Given the description of an element on the screen output the (x, y) to click on. 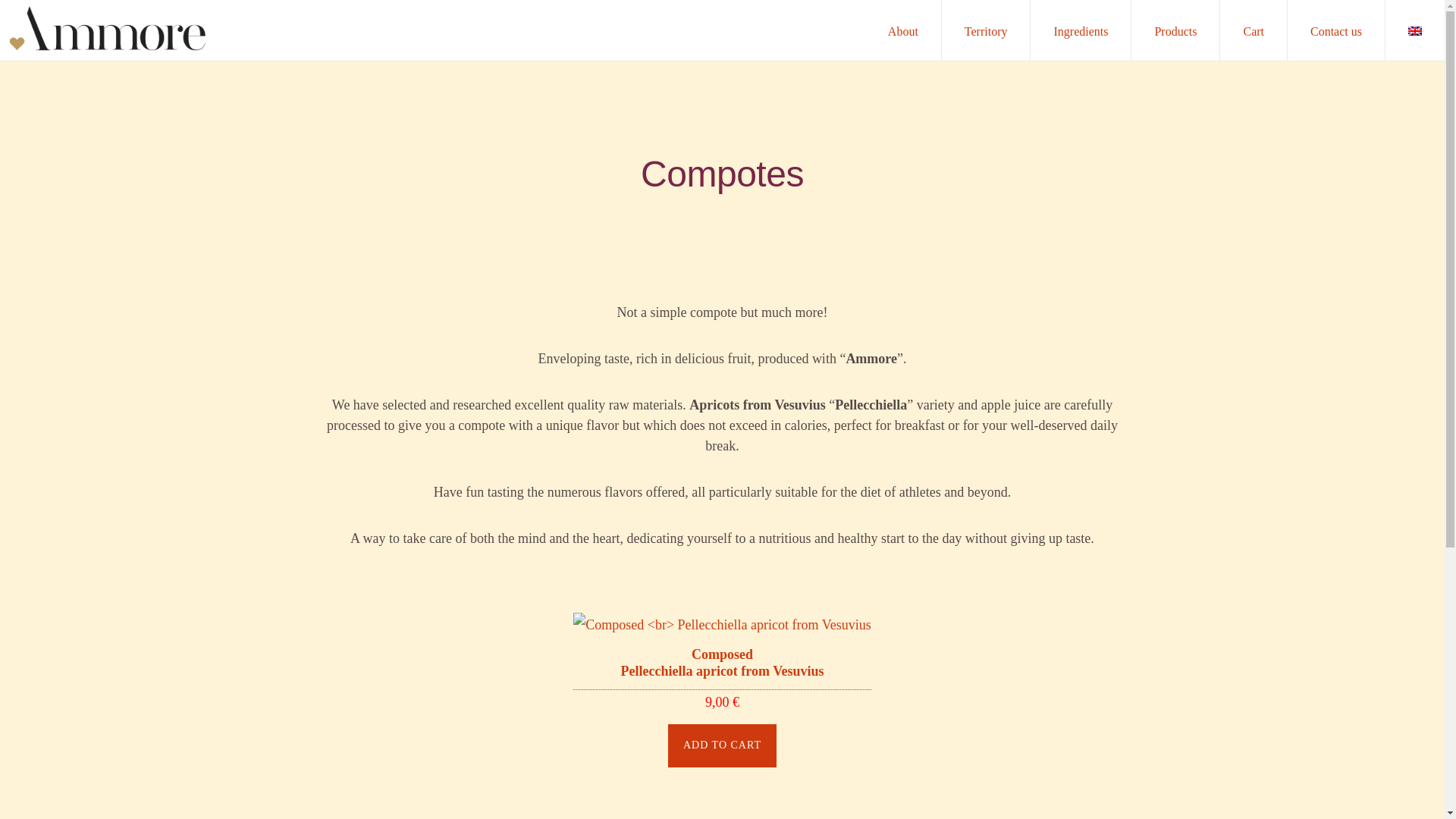
Contact us (1335, 30)
ADD TO CART (722, 744)
Cart (1253, 30)
Territory (986, 30)
About (902, 30)
Products (1175, 30)
Ingredients (1080, 30)
CONDIZIONI DI VENDITA (329, 775)
